Given the description of an element on the screen output the (x, y) to click on. 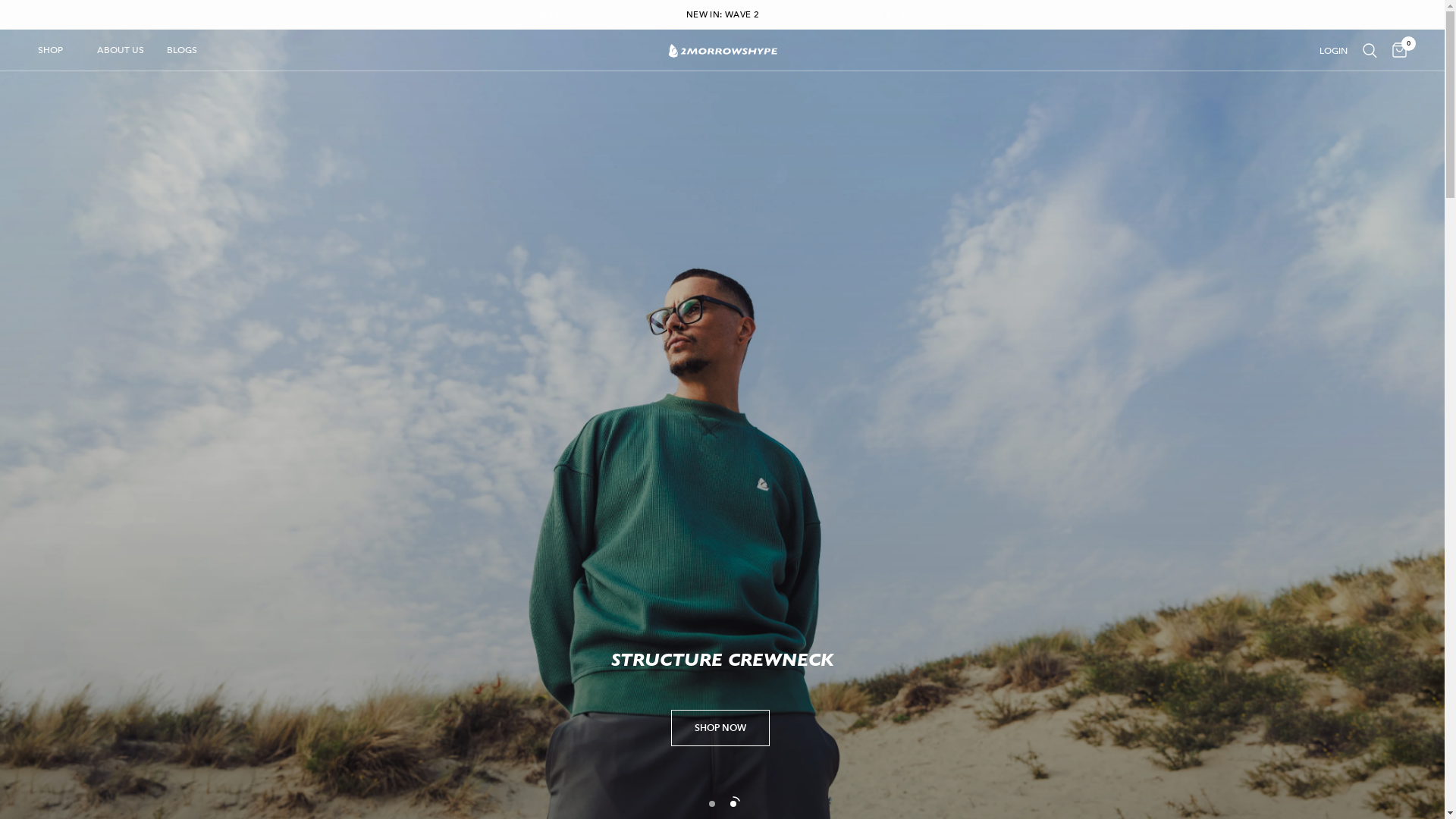
Search Element type: hover (1369, 50)
0 Element type: text (1395, 50)
SHOP NOW Element type: text (720, 727)
BLOGS Element type: text (181, 50)
LOGIN Element type: text (1333, 50)
SHOP NOW Element type: text (720, 764)
SHOP Element type: text (49, 50)
NEW IN: WAVE 2 Element type: text (722, 14)
ABOUT US Element type: text (120, 50)
